Given the description of an element on the screen output the (x, y) to click on. 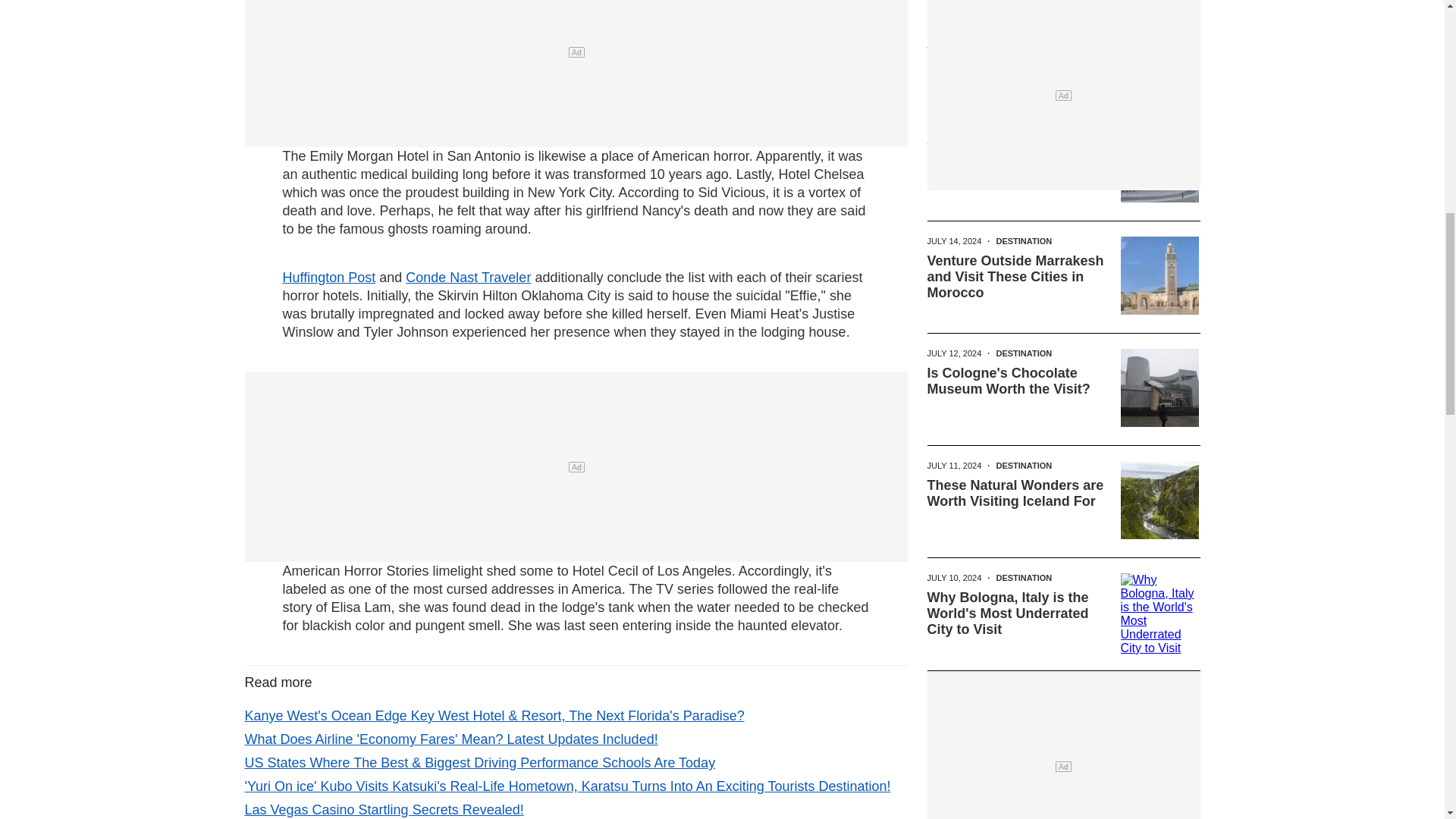
Is It Worth Hiking All the Way to Pena Palace? (1004, 43)
EUROPE (1012, 16)
Las Vegas Casino Startling Secrets Revealed! (383, 809)
Conde Nast Traveler (468, 277)
Huffington Post (328, 277)
